Given the description of an element on the screen output the (x, y) to click on. 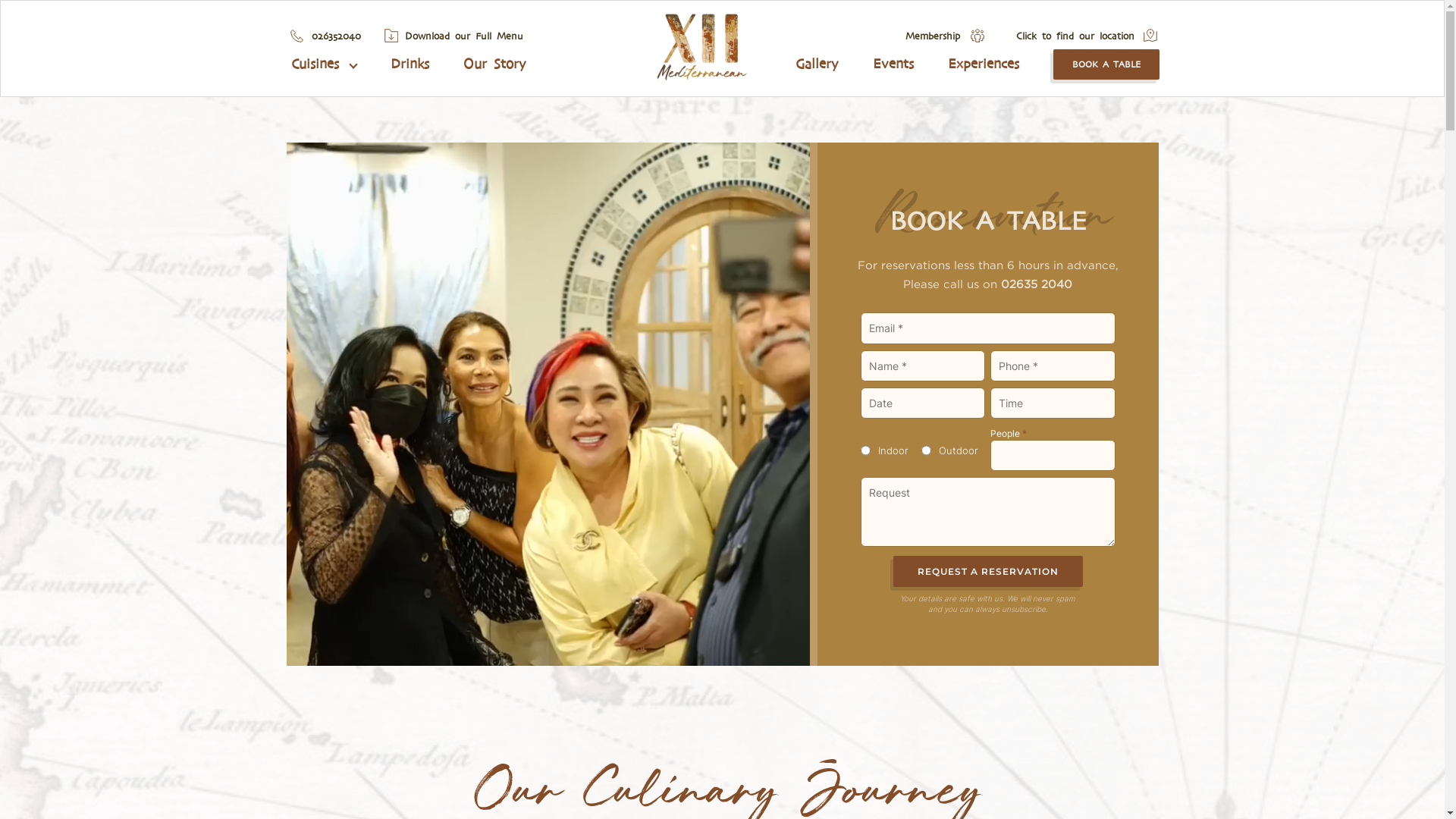
Cuisines Element type: text (323, 64)
Gallery Element type: text (816, 64)
Our Story Element type: text (494, 64)
Experiences Element type: text (983, 64)
Download our Full Menu Element type: text (463, 35)
Click to find our location Element type: text (1075, 35)
Membership Element type: text (932, 35)
026352040 Element type: text (335, 35)
BOOK A TABLE Element type: text (1106, 64)
Events Element type: text (892, 64)
REQUEST A RESERVATION Element type: text (987, 571)
Drinks Element type: text (409, 64)
